Given the description of an element on the screen output the (x, y) to click on. 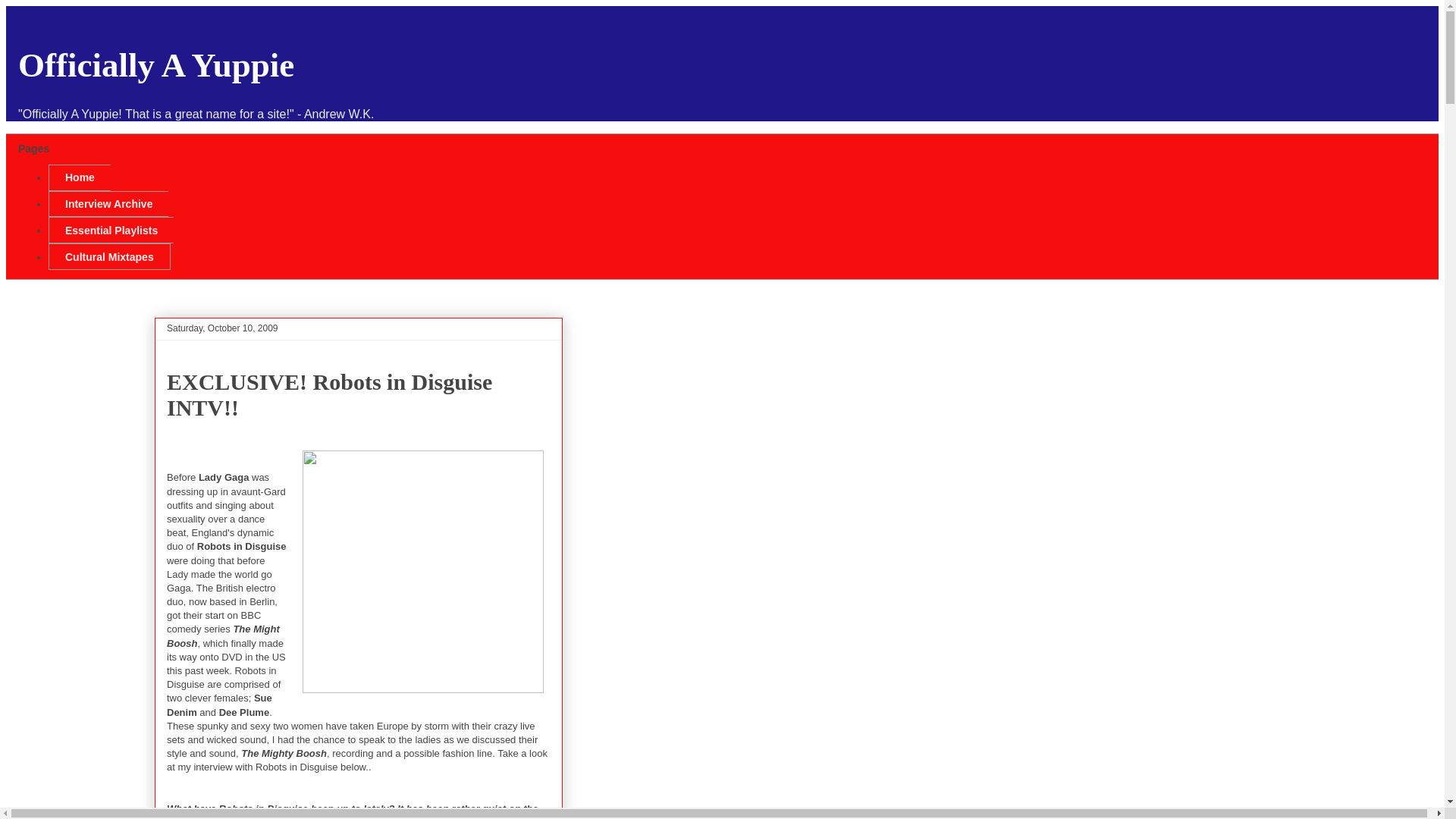
Cultural Mixtapes (109, 256)
Interview Archive (108, 203)
Home (79, 177)
Essential Playlists (110, 230)
Officially A Yuppie (155, 64)
